Given the description of an element on the screen output the (x, y) to click on. 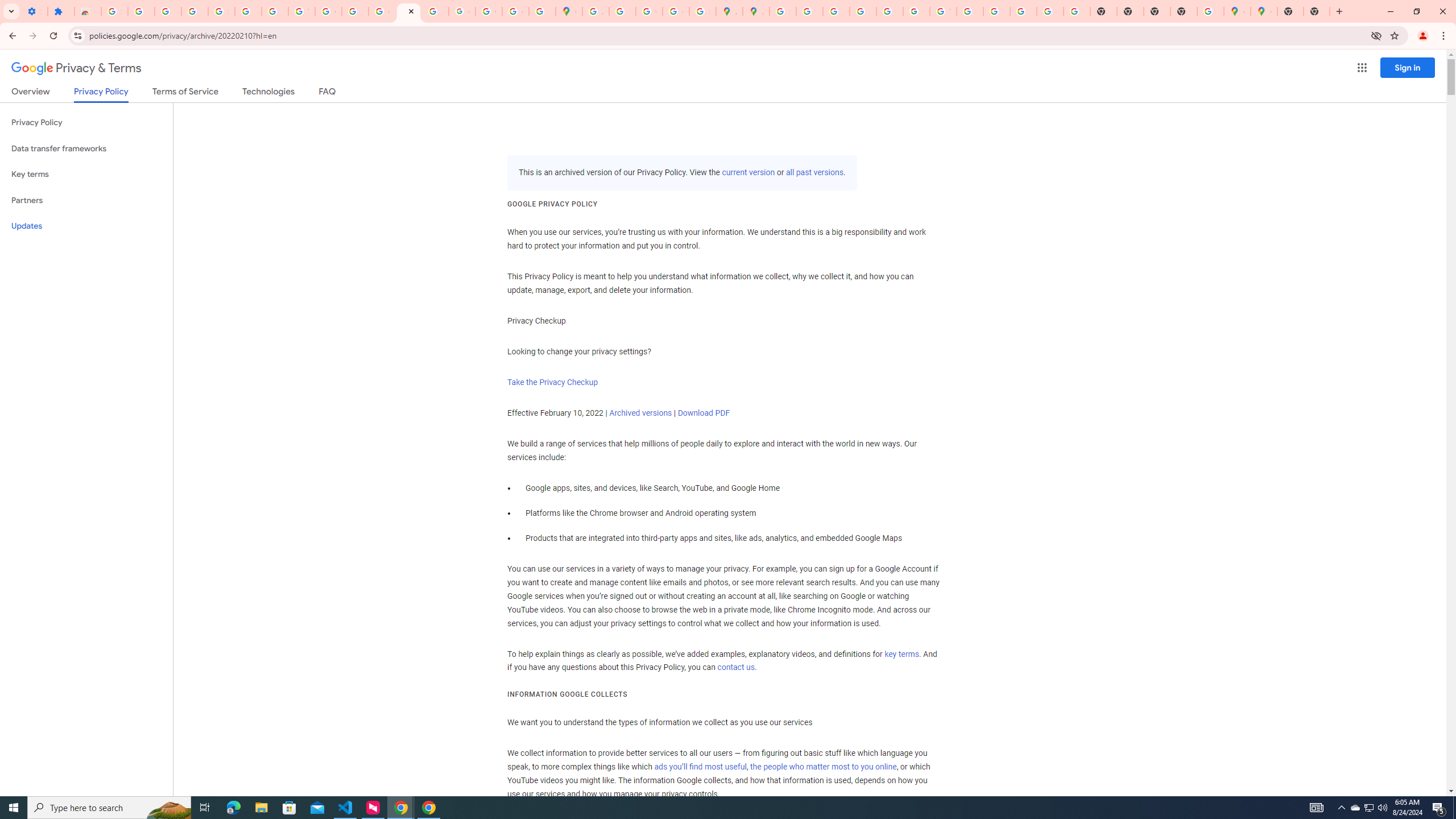
key terms (900, 653)
Privacy Help Center - Policies Help (836, 11)
Key terms (86, 174)
Privacy & Terms (76, 68)
Google Maps (1263, 11)
New Tab (1316, 11)
